Given the description of an element on the screen output the (x, y) to click on. 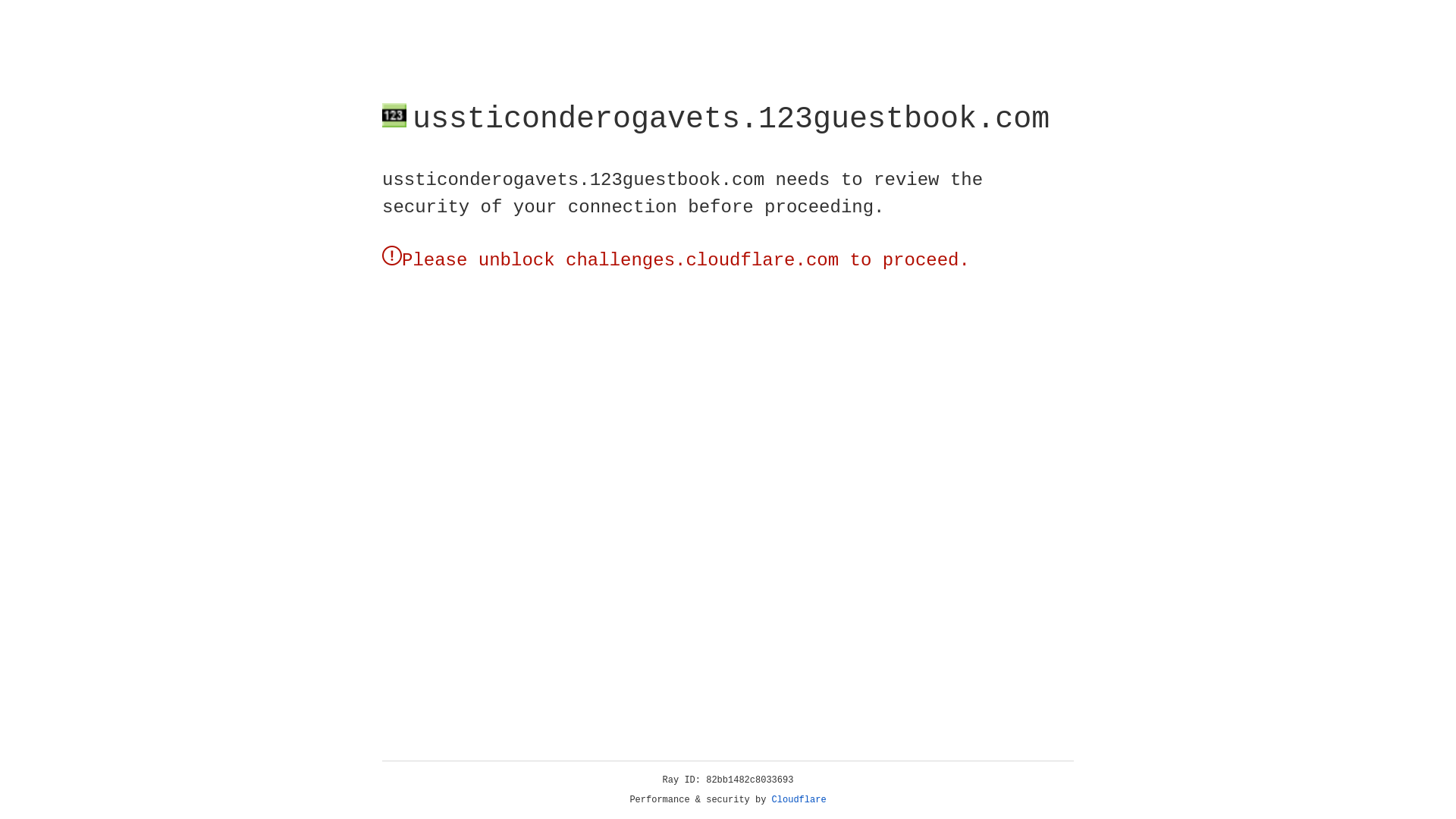
Cloudflare Element type: text (798, 799)
